Given the description of an element on the screen output the (x, y) to click on. 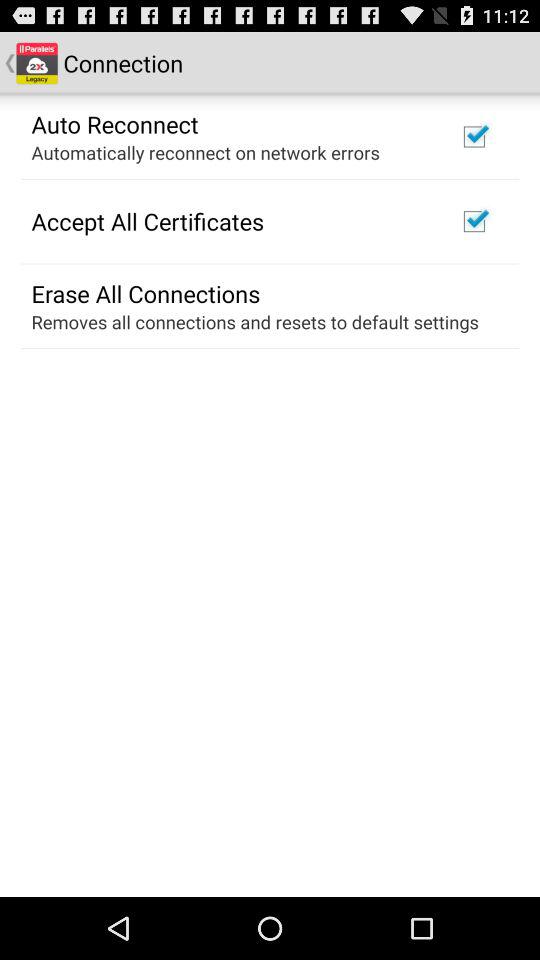
select the item above accept all certificates app (205, 151)
